Given the description of an element on the screen output the (x, y) to click on. 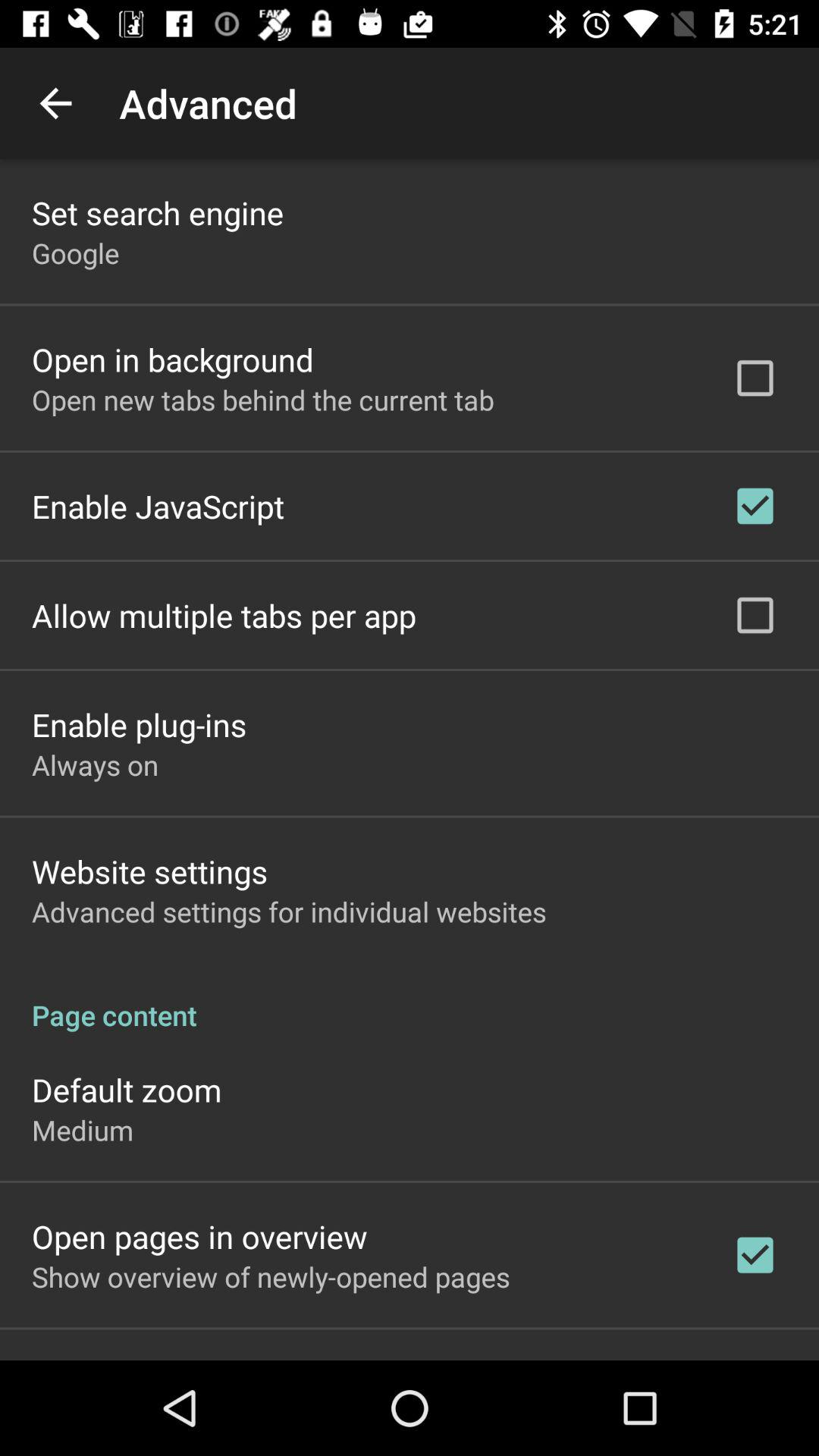
tap app to the left of advanced item (55, 103)
